Given the description of an element on the screen output the (x, y) to click on. 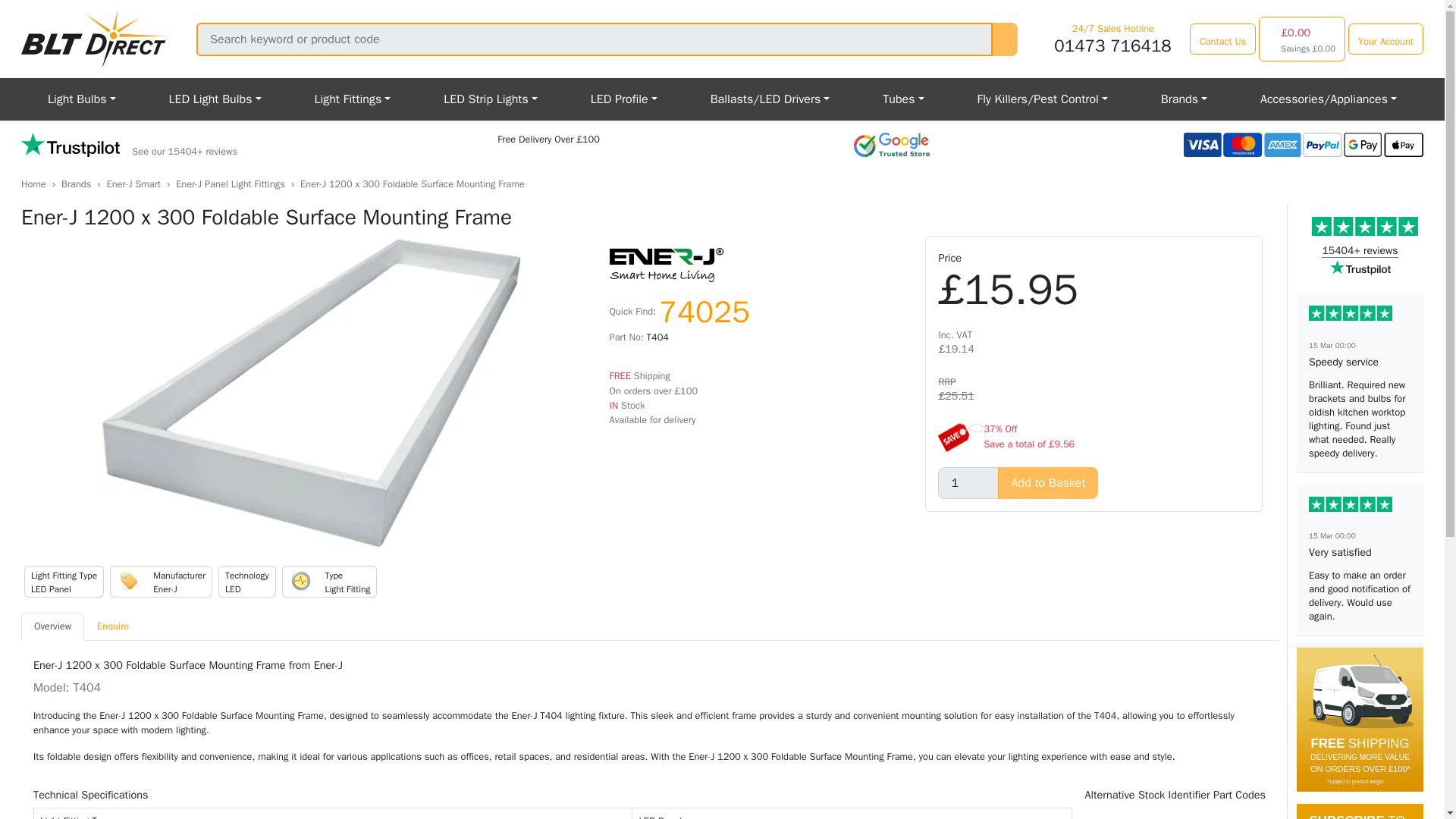
Brands (1183, 99)
Light Bulbs (81, 99)
Ener-J 1200 x 300 Foldable Surface Mounting Frame (309, 392)
Add to Basket (1047, 482)
LED Light Bulbs (215, 99)
LED Profile (624, 99)
Tubes (903, 99)
LED Light Bulbs (215, 99)
LED Profile (624, 99)
Light Bulbs, Lamps and Tubes Direct (94, 38)
Google Trust Store (891, 143)
Ener-J Panel Light Fittings (230, 184)
LED Strip Lights (489, 99)
Home (33, 184)
Contact Us (1222, 38)
